Given the description of an element on the screen output the (x, y) to click on. 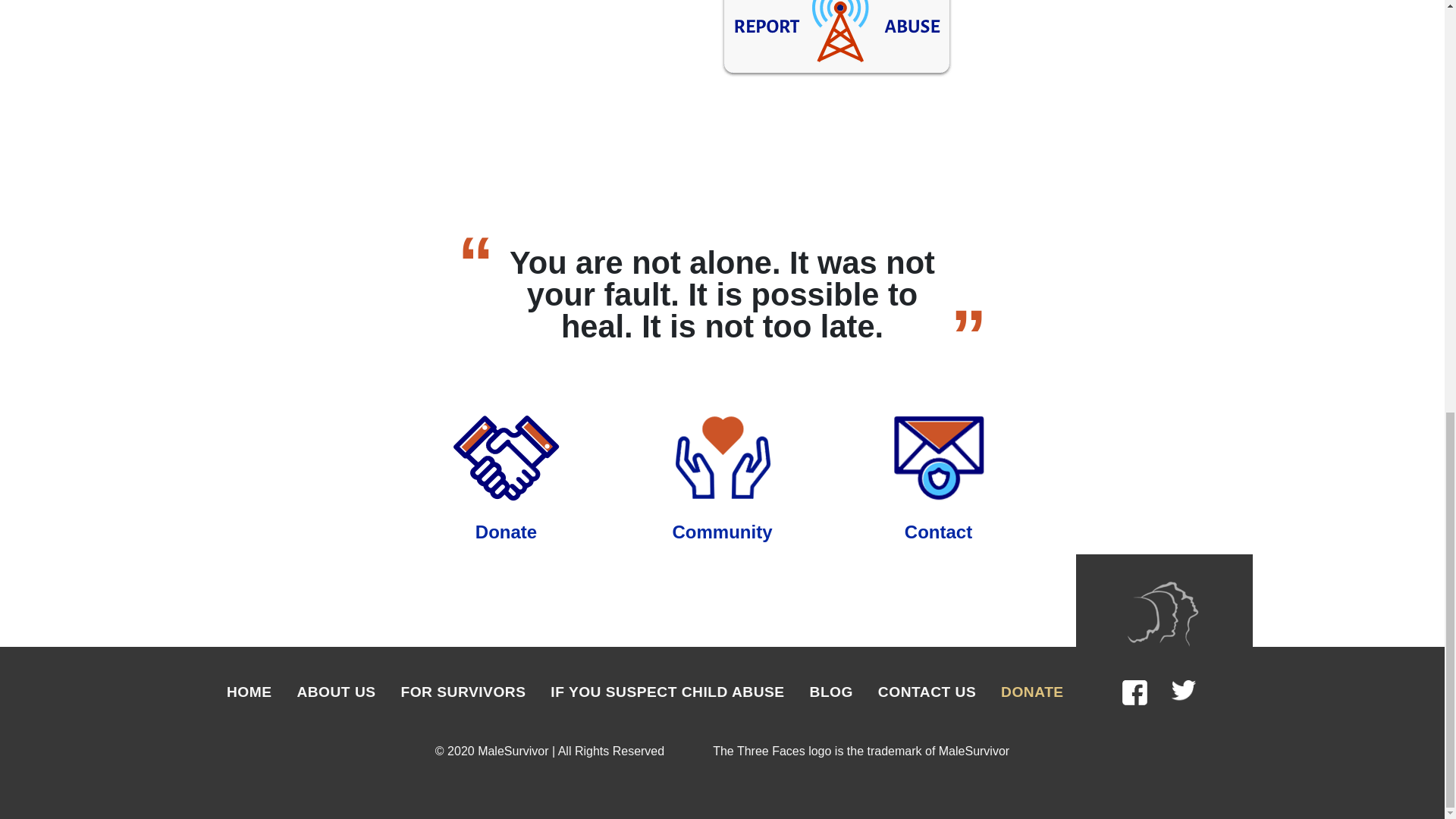
HOME (249, 691)
Community (721, 531)
Contact (938, 531)
Donate (506, 531)
